Given the description of an element on the screen output the (x, y) to click on. 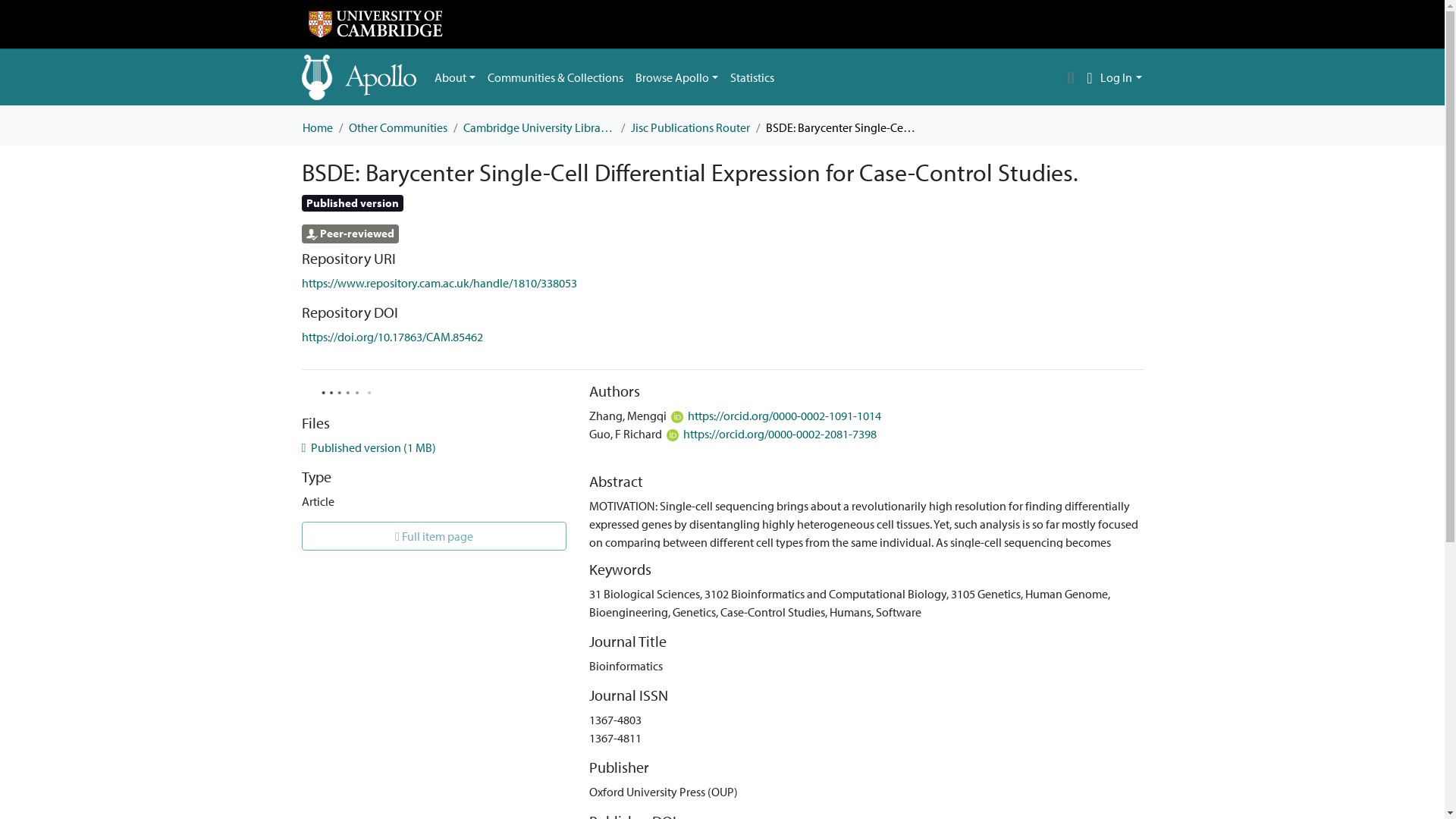
About (454, 77)
Jisc Publications Router (689, 126)
Log In (1120, 77)
Search (1070, 76)
Language switch (1089, 76)
Browse Apollo (675, 77)
Cambridge University Libraries (538, 126)
Home (316, 126)
Statistics (751, 77)
Statistics (751, 77)
